Given the description of an element on the screen output the (x, y) to click on. 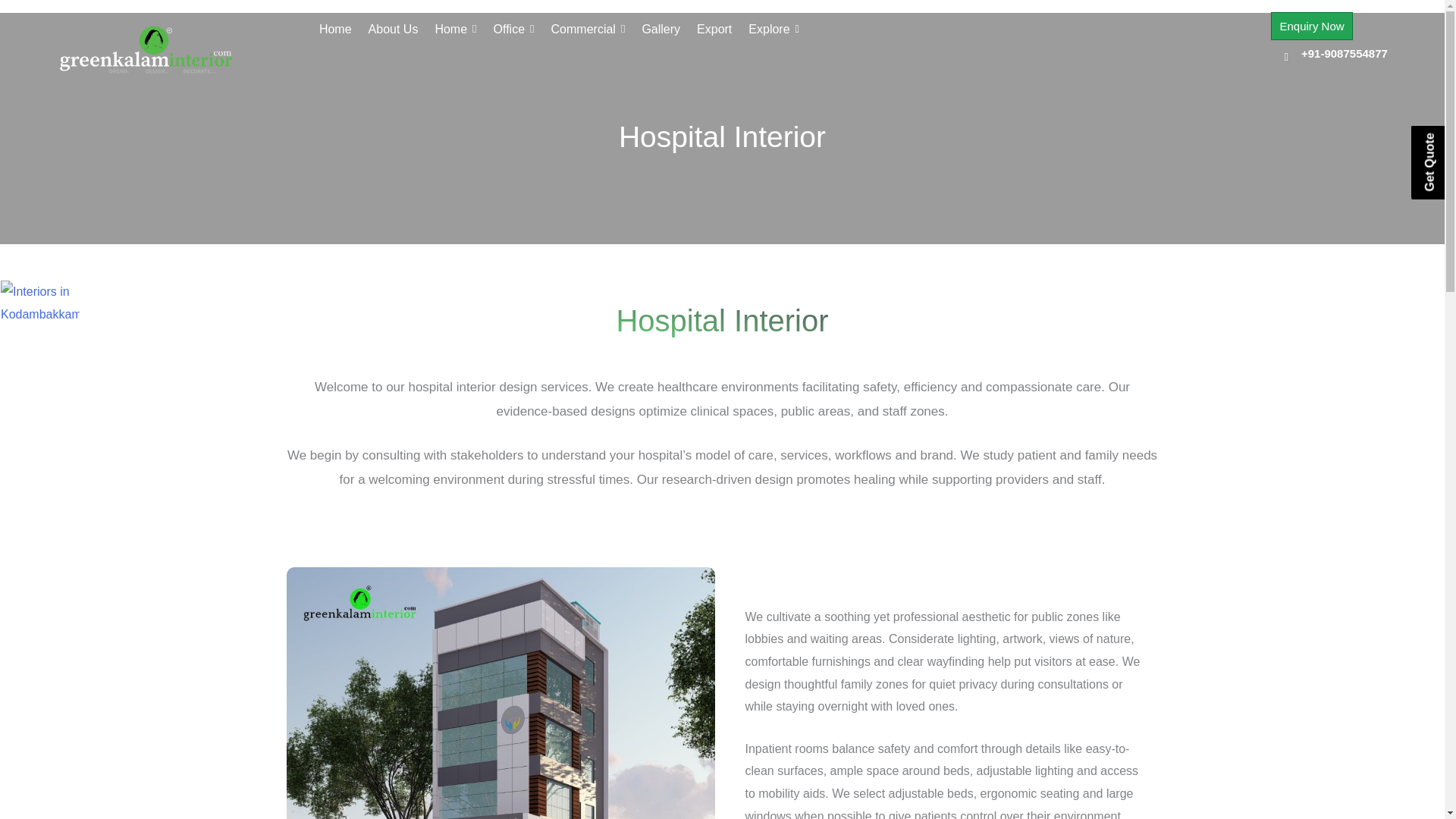
Home (335, 29)
Gallery (660, 29)
Office (513, 29)
Export (714, 29)
Explore (773, 29)
Commercial (588, 29)
About Us (393, 29)
Home (454, 29)
